Given the description of an element on the screen output the (x, y) to click on. 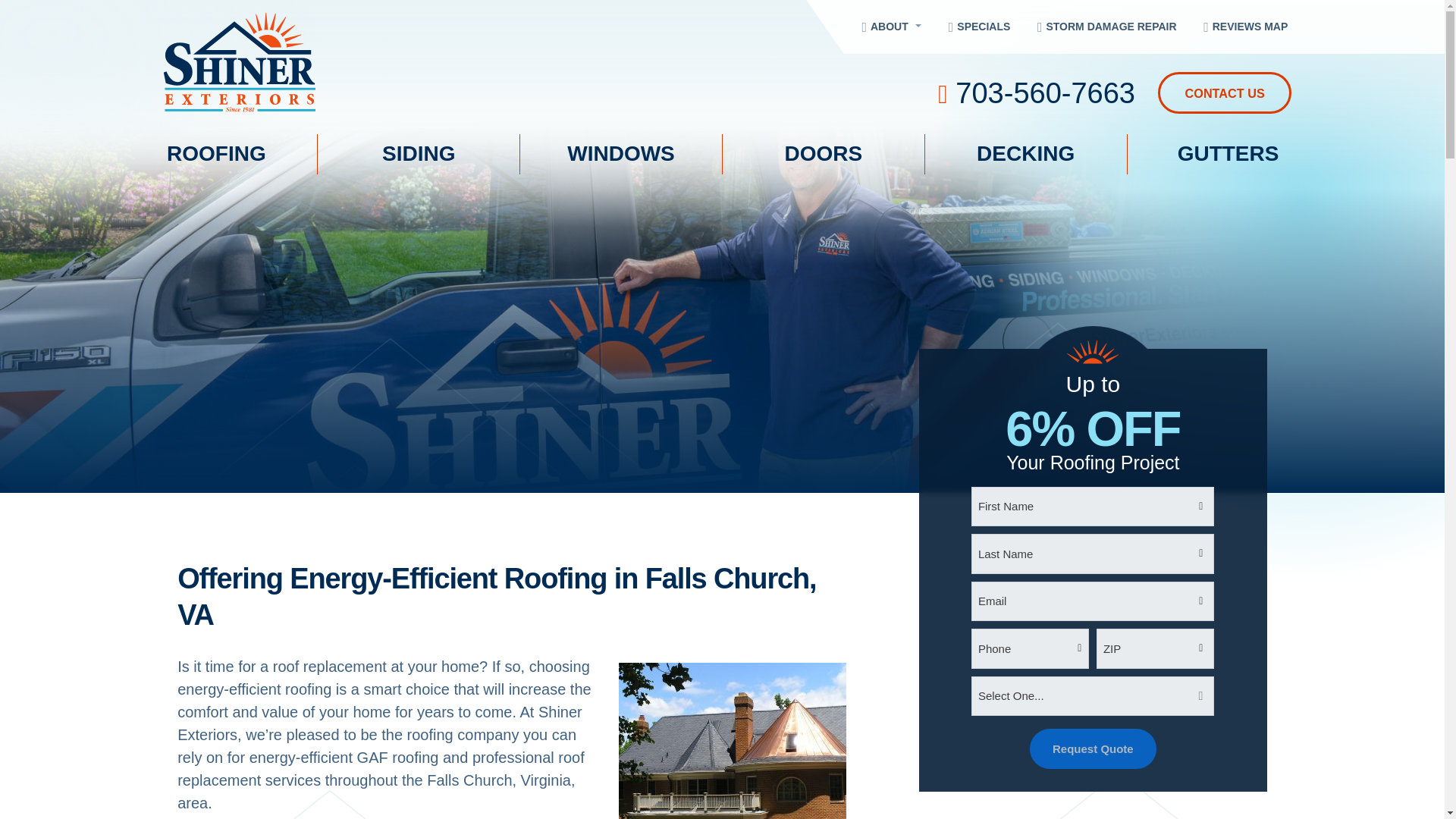
Shiner Exteriors (357, 62)
Request Quote (1092, 748)
Energy-Efficient Roofing Falls Church VA (731, 740)
